Given the description of an element on the screen output the (x, y) to click on. 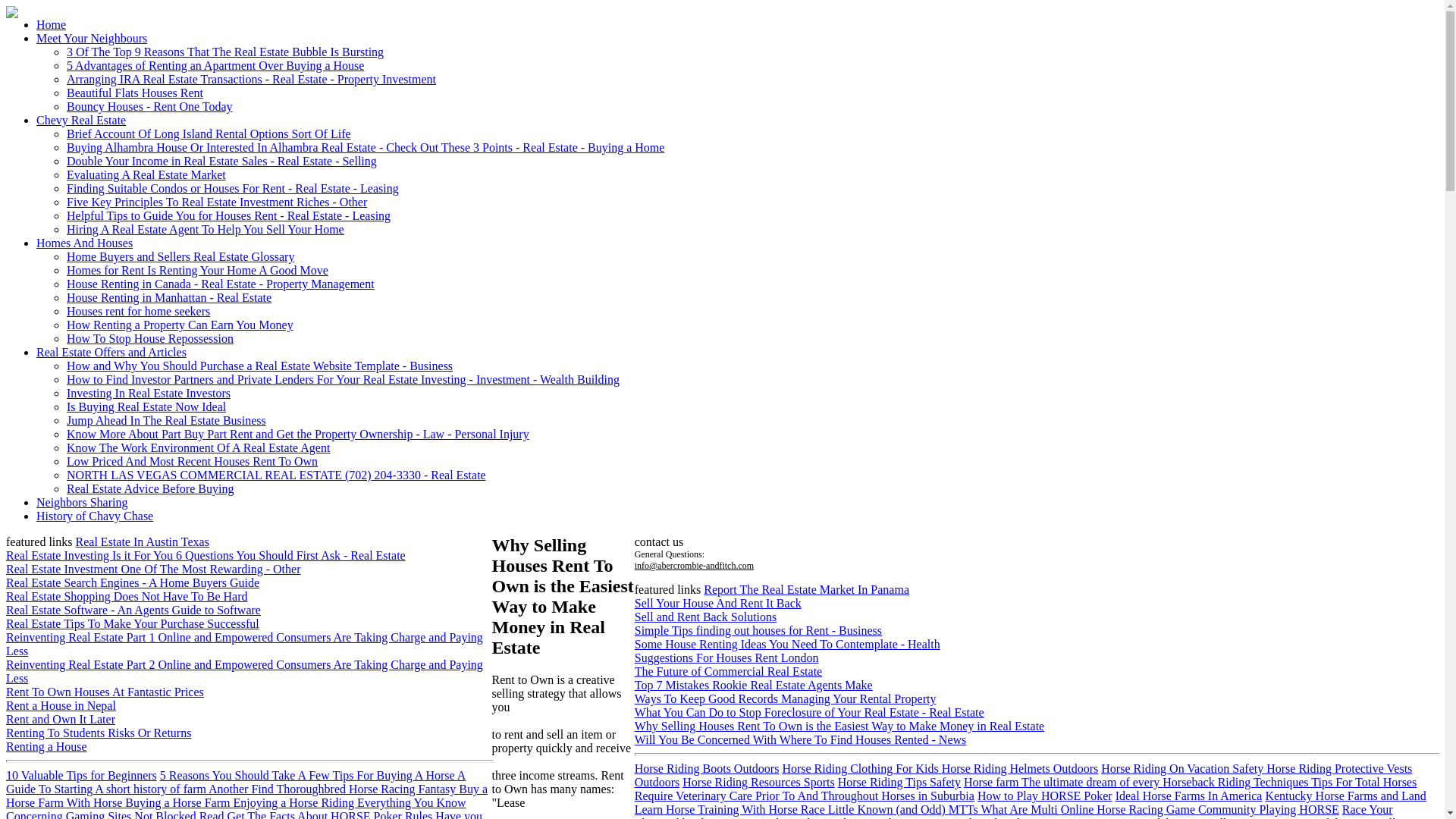
How Renting a Property Can Earn You Money (180, 324)
Houses rent for home seekers (137, 310)
Jump Ahead In The Real Estate Business (166, 420)
Evaluating A Real Estate Market (145, 174)
Hiring A Real Estate Agent To Help You Sell Your Home (204, 228)
Chevy Real Estate (80, 119)
Home (50, 24)
House Renting in Manhattan - Real Estate (168, 297)
Know The Work Environment Of A Real Estate Agent (198, 447)
Five Key Principles To Real Estate Investment Riches - Other (216, 201)
